Given the description of an element on the screen output the (x, y) to click on. 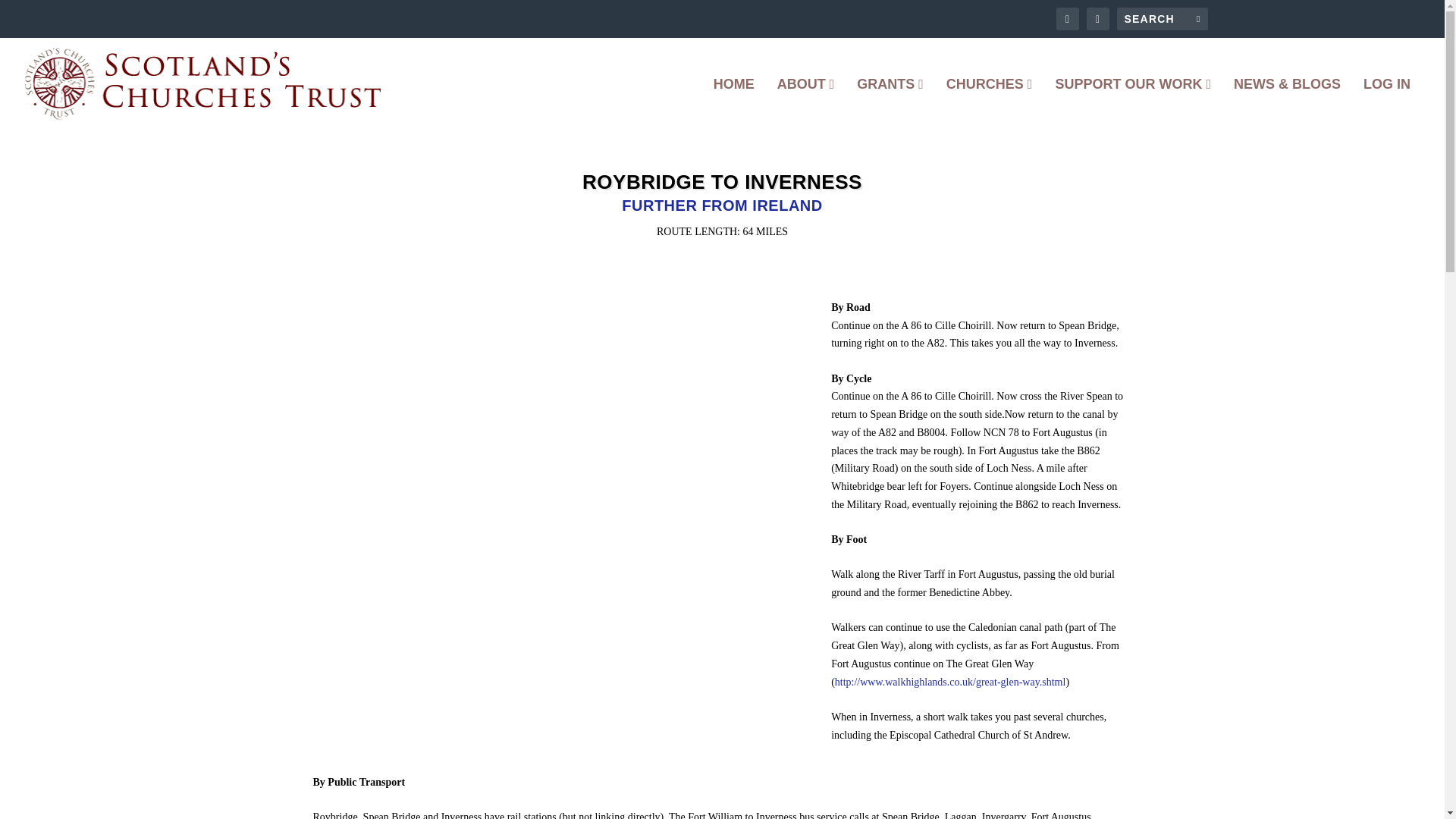
ABOUT (805, 102)
SUPPORT OUR WORK (1132, 102)
GRANTS (890, 102)
CHURCHES (989, 102)
Search for: (1161, 18)
LOG IN (1386, 102)
